Given the description of an element on the screen output the (x, y) to click on. 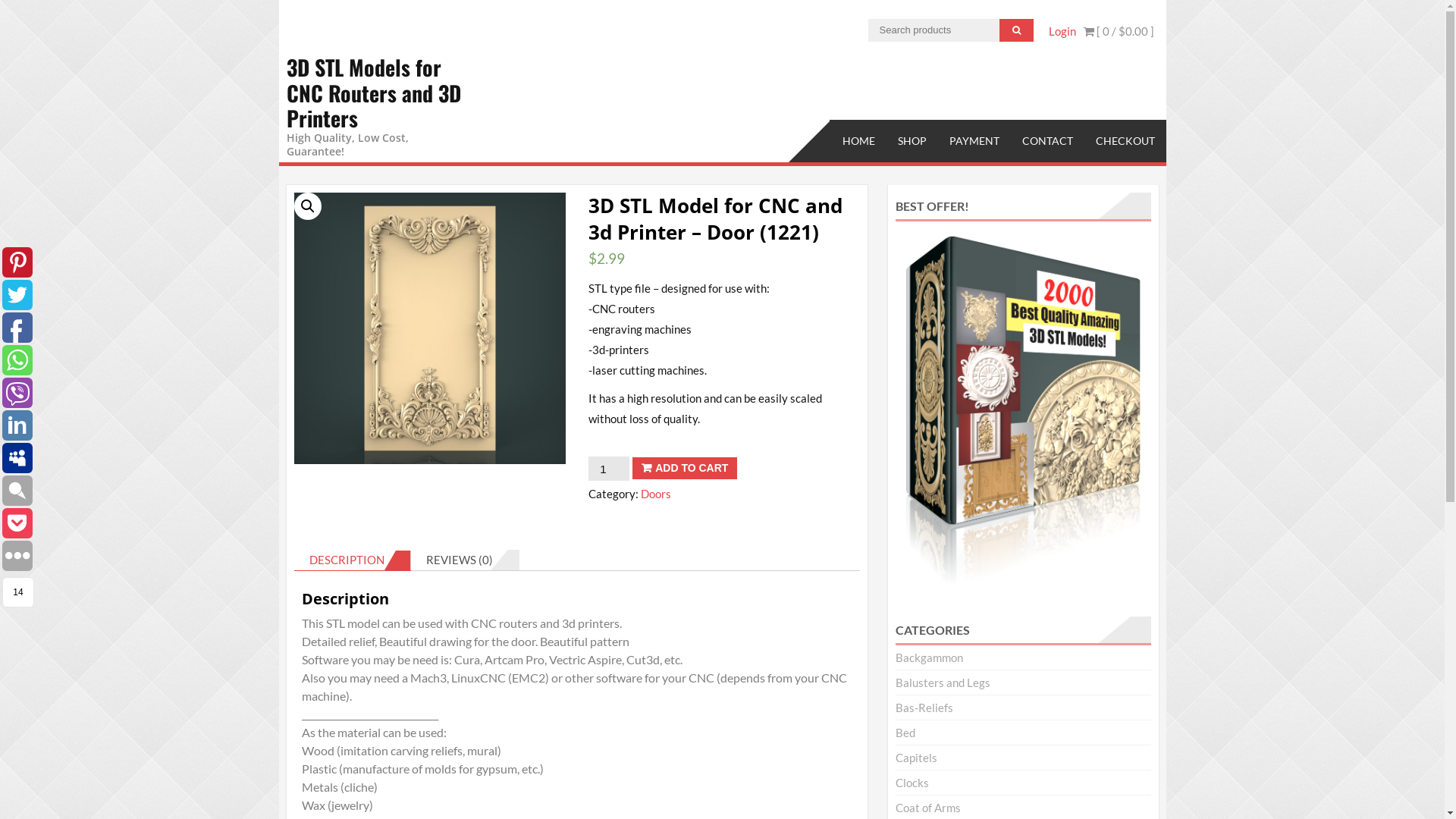
REVIEWS (0) Element type: text (459, 559)
Bas-Reliefs Element type: text (924, 707)
Doors Element type: text (655, 493)
CONTACT Element type: text (1046, 140)
Share Twitter Element type: hover (17, 294)
Login Element type: text (1061, 30)
Share WhatsApp Element type: hover (17, 360)
Share Facebook Element type: hover (17, 327)
SHOP Element type: text (911, 140)
Share Viber Element type: hover (17, 392)
Balusters and Legs Element type: text (942, 682)
[ 0 / $0.00 ] Element type: text (1117, 30)
Share Pinterest Element type: hover (17, 262)
HOME Element type: text (858, 140)
Even more social networks! Element type: hover (17, 555)
DESCRIPTION Element type: text (346, 559)
Coat of Arms Element type: text (927, 807)
Share Pocket Element type: hover (17, 523)
Share LinkedIn Element type: hover (17, 425)
3d STL Model for CNC and 3d Printer Door 1221 Element type: hover (429, 328)
Share Pinme Element type: hover (17, 490)
Share MySpace Element type: hover (17, 457)
PAYMENT Element type: text (973, 140)
Capitels Element type: text (916, 757)
Qty Element type: hover (608, 468)
CHECKOUT Element type: text (1125, 140)
Bed Element type: text (905, 732)
Clocks Element type: text (911, 782)
Backgammon Element type: text (929, 657)
ADD TO CART Element type: text (684, 468)
